Given the description of an element on the screen output the (x, y) to click on. 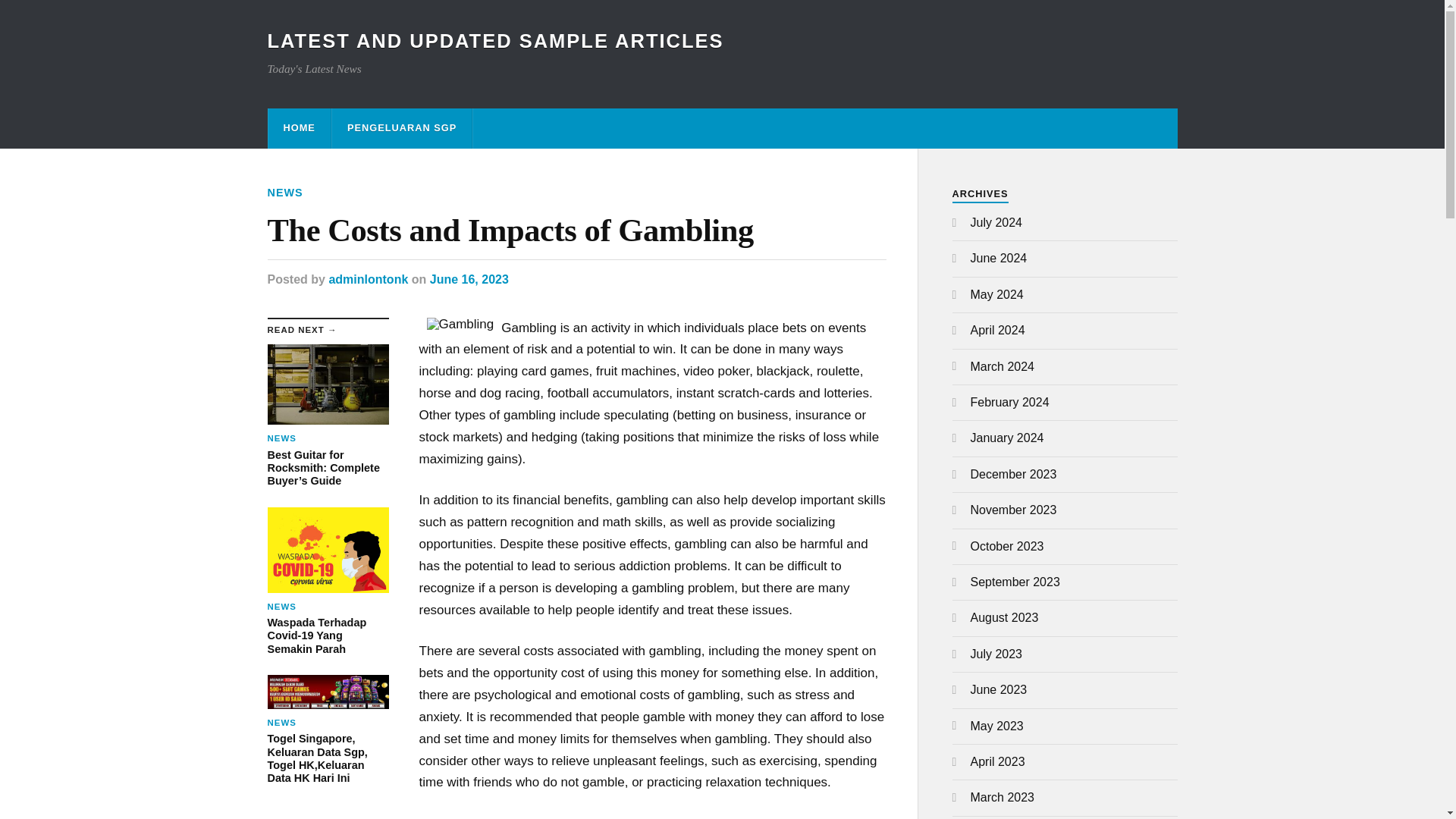
April 2023 (998, 761)
January 2024 (1007, 437)
September 2023 (1015, 581)
HOME (298, 128)
May 2023 (997, 725)
LATEST AND UPDATED SAMPLE ARTICLES (494, 40)
July 2023 (997, 653)
April 2024 (998, 329)
June 2024 (999, 257)
November 2023 (1014, 509)
May 2024 (997, 294)
February 2024 (1010, 401)
August 2023 (1005, 617)
December 2023 (1014, 473)
March 2023 (1003, 797)
